Given the description of an element on the screen output the (x, y) to click on. 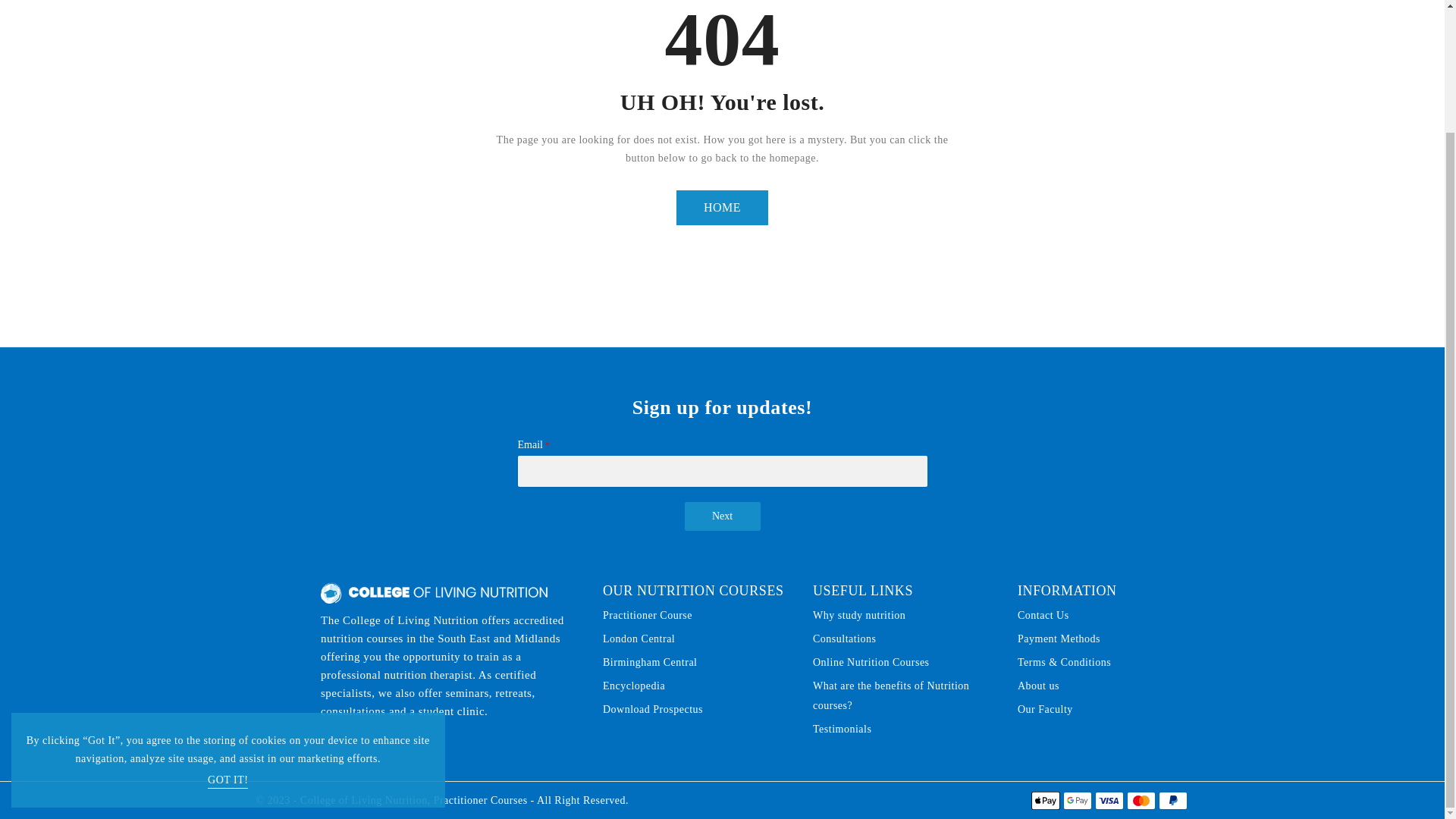
Birmingham Central (649, 662)
About us (1038, 686)
Next (722, 516)
Why study nutrition (858, 615)
Encyclopedia (633, 686)
Testimonials (841, 729)
What are the benefits of Nutrition courses? (903, 695)
Payment Methods (1058, 639)
Practitioner Course (647, 615)
Contact Us (1042, 615)
Online Nutrition Courses (871, 662)
Our Faculty (1045, 709)
London Central (638, 639)
HOME (722, 207)
Consultations (844, 639)
